Given the description of an element on the screen output the (x, y) to click on. 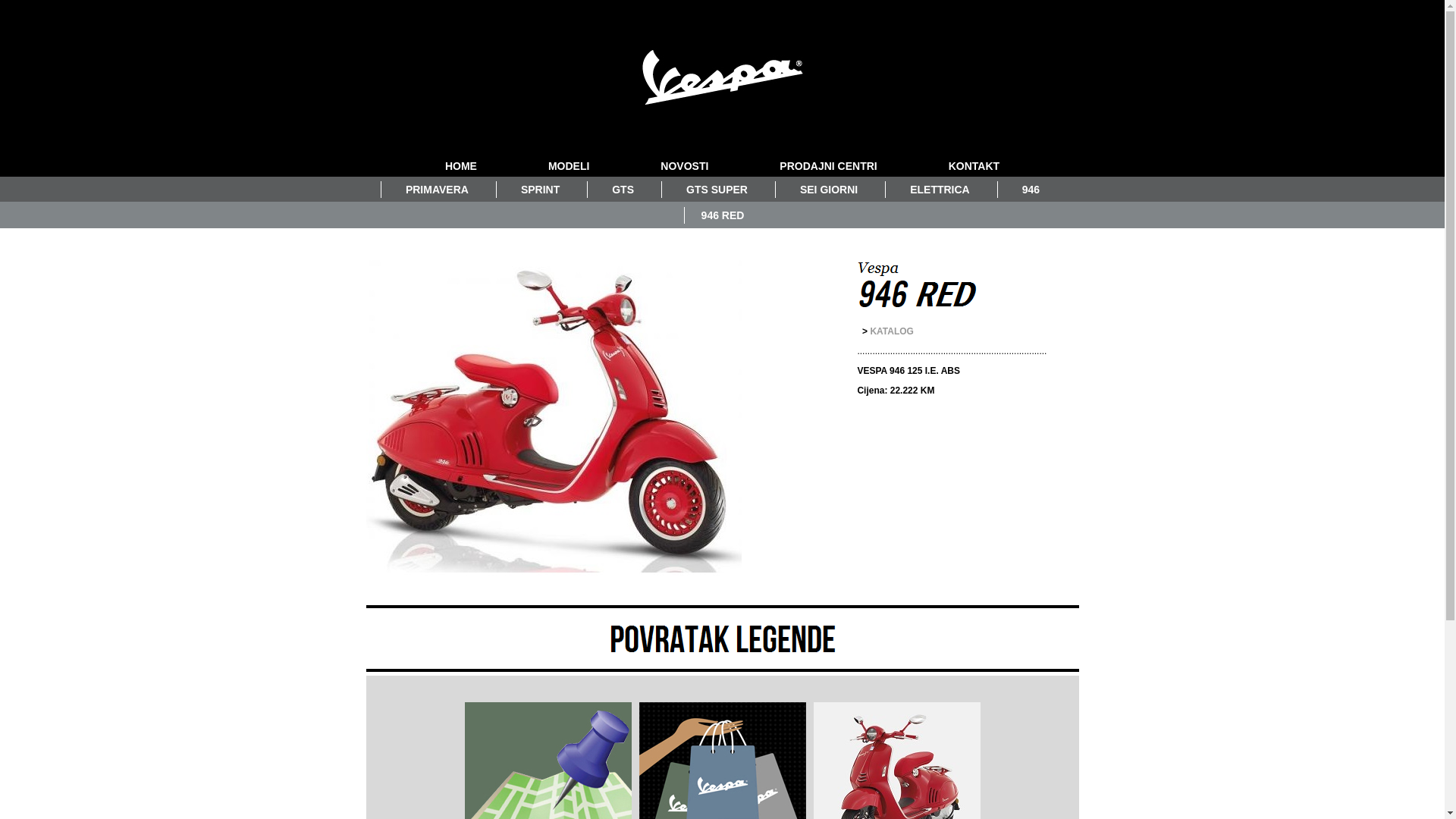
946 Element type: text (1030, 188)
KATALOG Element type: text (891, 331)
HOME Element type: text (461, 165)
PRIMAVERA Element type: text (436, 188)
SEI GIORNI Element type: text (828, 188)
MODELI Element type: text (568, 165)
NOVOSTI Element type: text (684, 165)
PRODAJNI CENTRI Element type: text (827, 165)
946 RED Element type: text (722, 214)
GTS SUPER Element type: text (716, 188)
KONTAKT Element type: text (973, 165)
SPRINT Element type: text (539, 188)
GTS Element type: text (622, 188)
ELETTRICA Element type: text (939, 188)
